Given the description of an element on the screen output the (x, y) to click on. 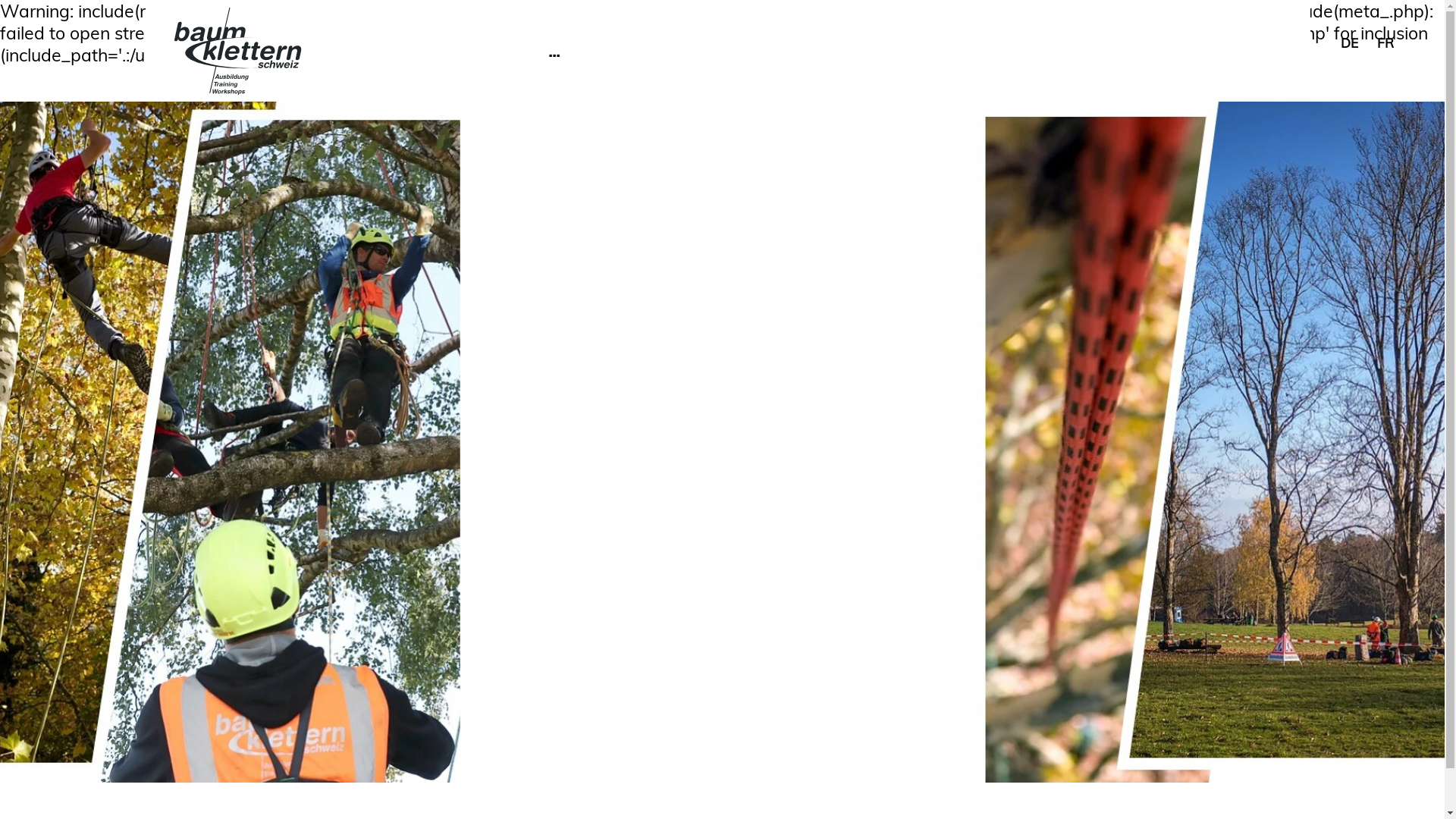
DE Element type: text (1350, 42)
FR Element type: text (1385, 42)
